Given the description of an element on the screen output the (x, y) to click on. 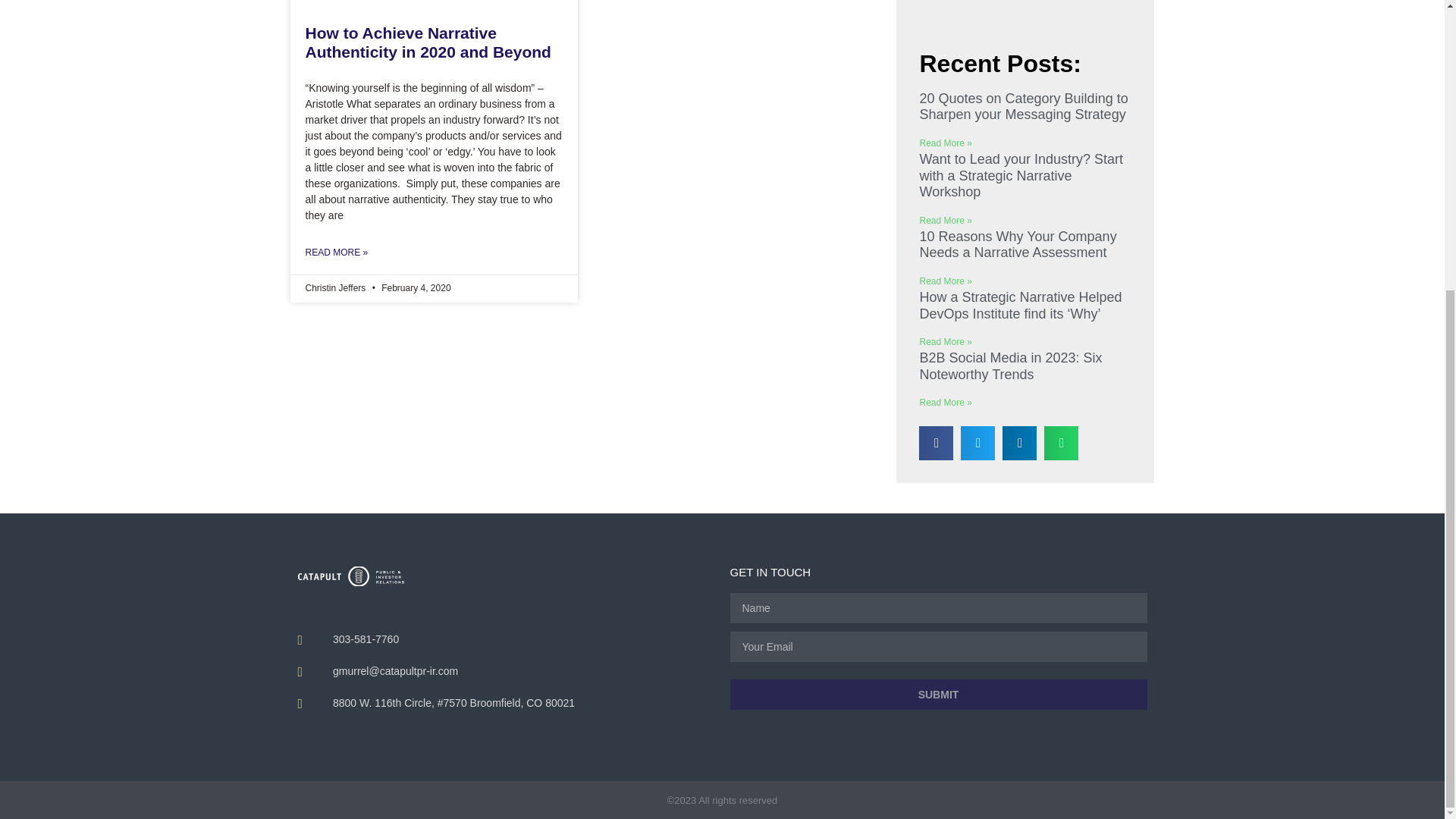
10 Reasons Why Your Company Needs a Narrative Assessment (1017, 245)
SUBMIT (938, 694)
B2B Social Media in 2023: Six Noteworthy Trends (1010, 366)
How to Achieve Narrative Authenticity in 2020 and Beyond (427, 42)
